Given the description of an element on the screen output the (x, y) to click on. 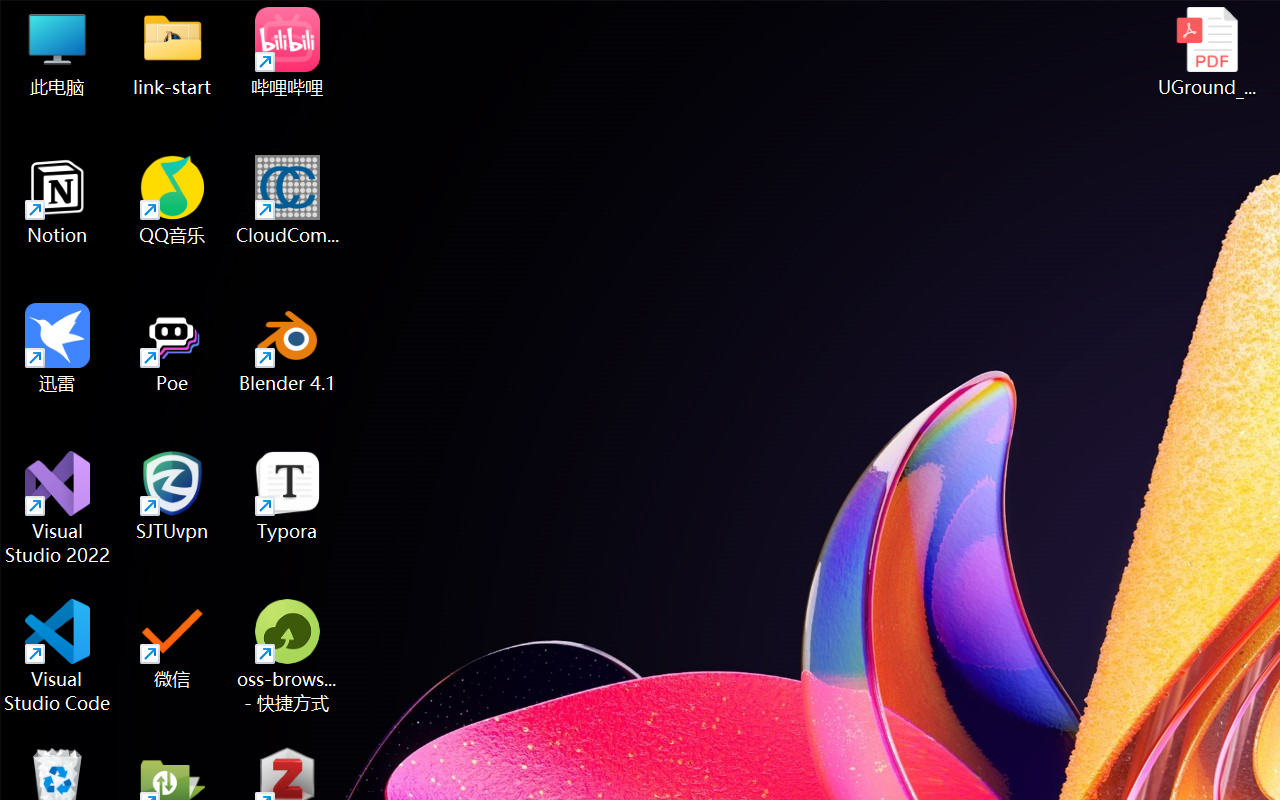
Pen: Galaxy, 1 mm (426, 173)
Codeium: Refactor (808, 472)
Ink to Shape (889, 179)
Undo Apply Quick Style (280, 35)
